Given the description of an element on the screen output the (x, y) to click on. 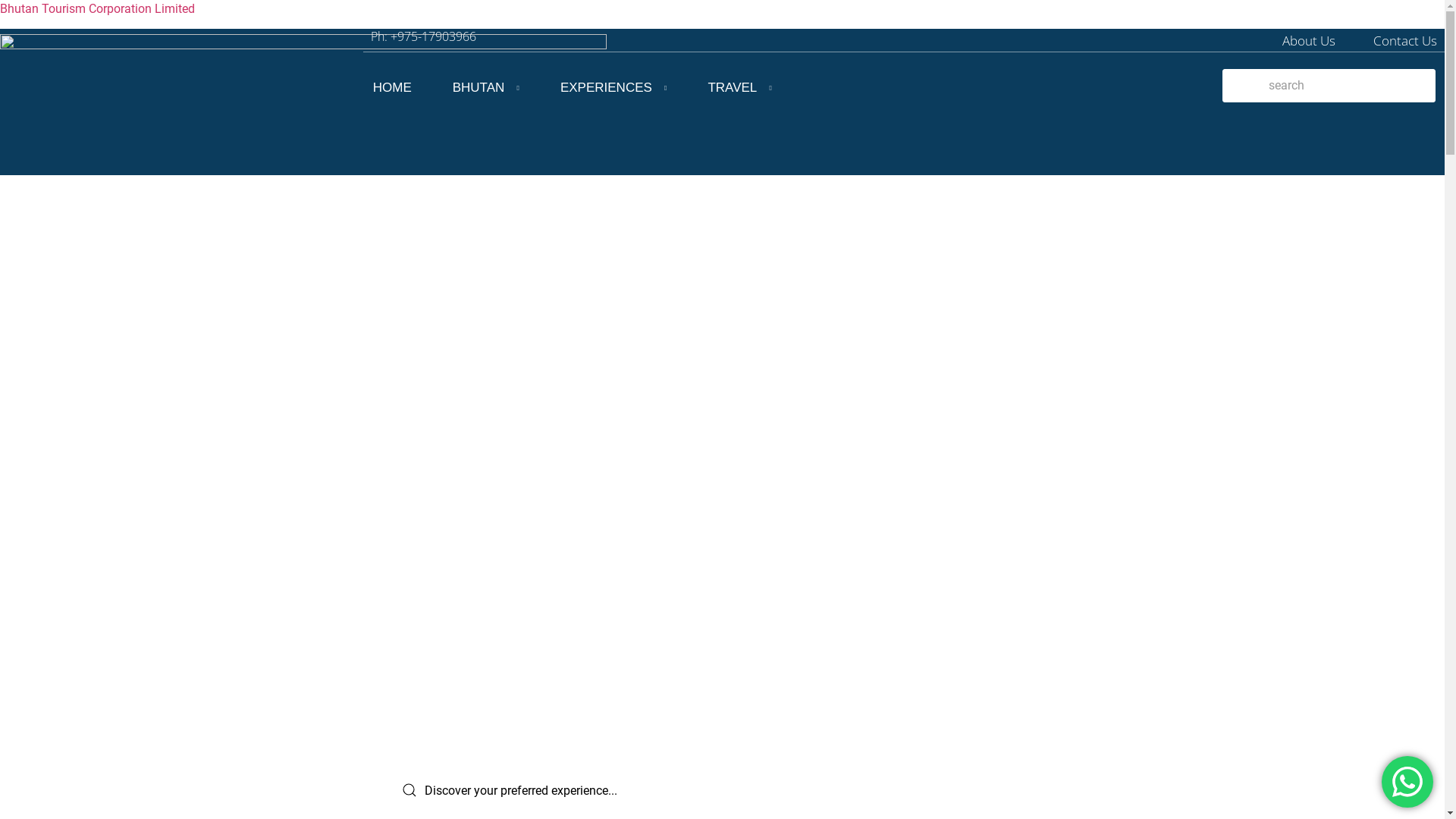
WhatsApp us Element type: hover (1407, 781)
Search Element type: hover (741, 789)
About Us Element type: text (1308, 40)
Bhutan Tourism Corporation Limited Element type: text (97, 8)
HOME Element type: text (392, 87)
BHUTAN Element type: text (485, 87)
TRAVEL Element type: text (739, 87)
Contact Us Element type: text (1405, 40)
Search Element type: hover (1328, 85)
EXPERIENCES Element type: text (613, 87)
